Given the description of an element on the screen output the (x, y) to click on. 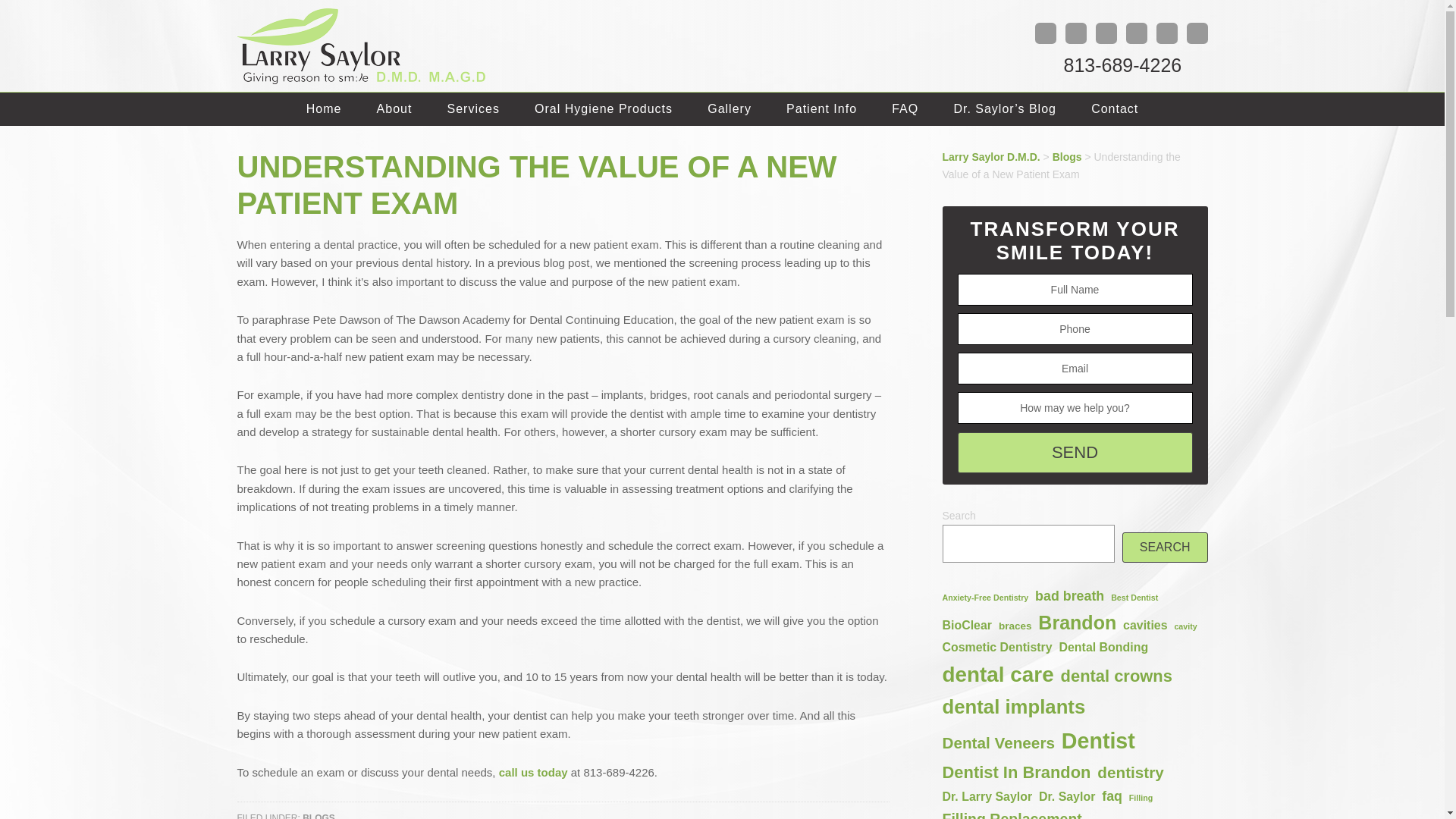
LARRY SAYLOR D.M.D. (365, 49)
Services (472, 109)
Go to Larry Saylor D.M.D.. (990, 156)
Go to the Blogs category archives. (1066, 156)
Send (1074, 452)
Home (323, 109)
813-689-4226 (1117, 65)
About (394, 109)
